Given the description of an element on the screen output the (x, y) to click on. 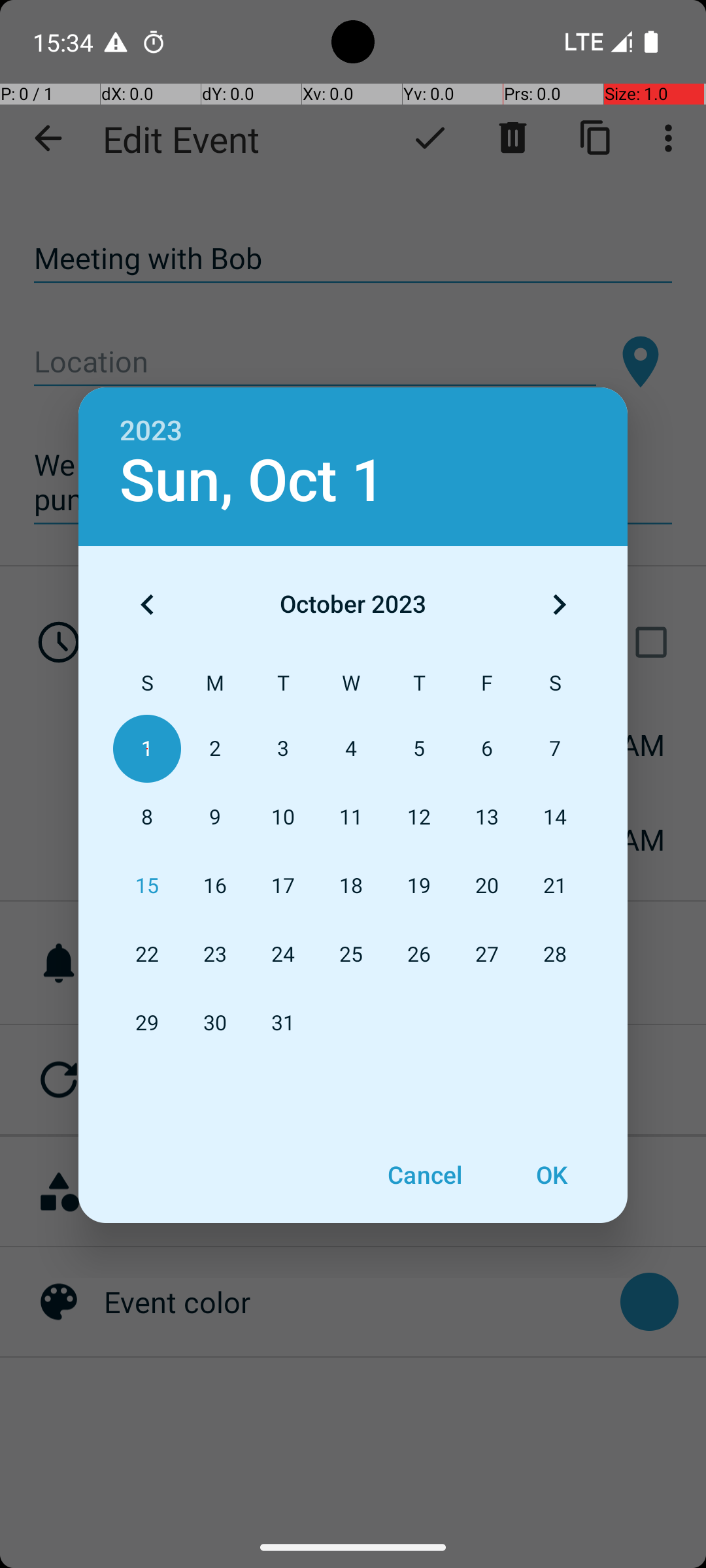
Sun, Oct 1 Element type: android.widget.TextView (252, 480)
